Given the description of an element on the screen output the (x, y) to click on. 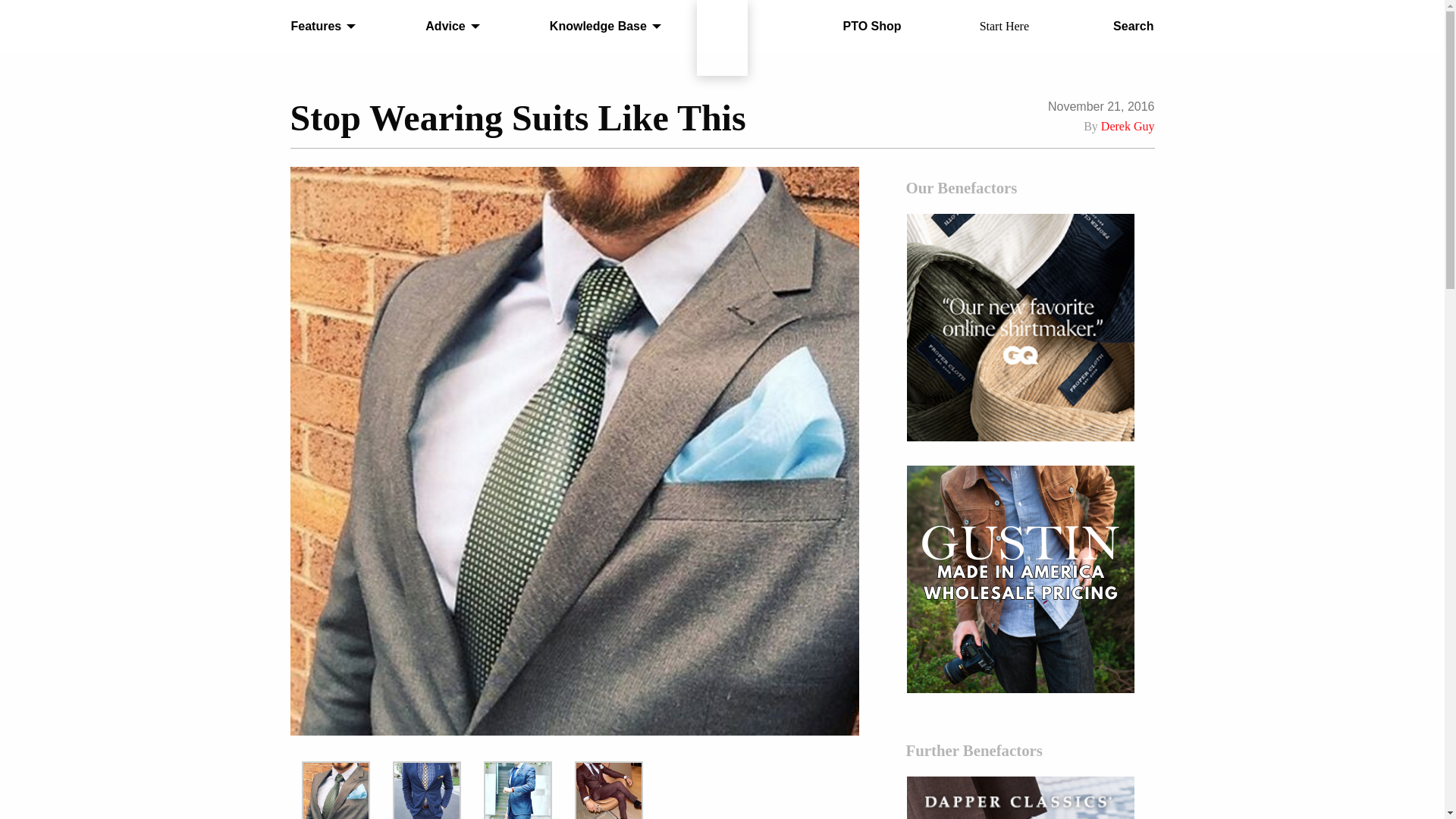
Advice (448, 26)
Features (319, 26)
Posts by Derek Guy (1127, 125)
